Given the description of an element on the screen output the (x, y) to click on. 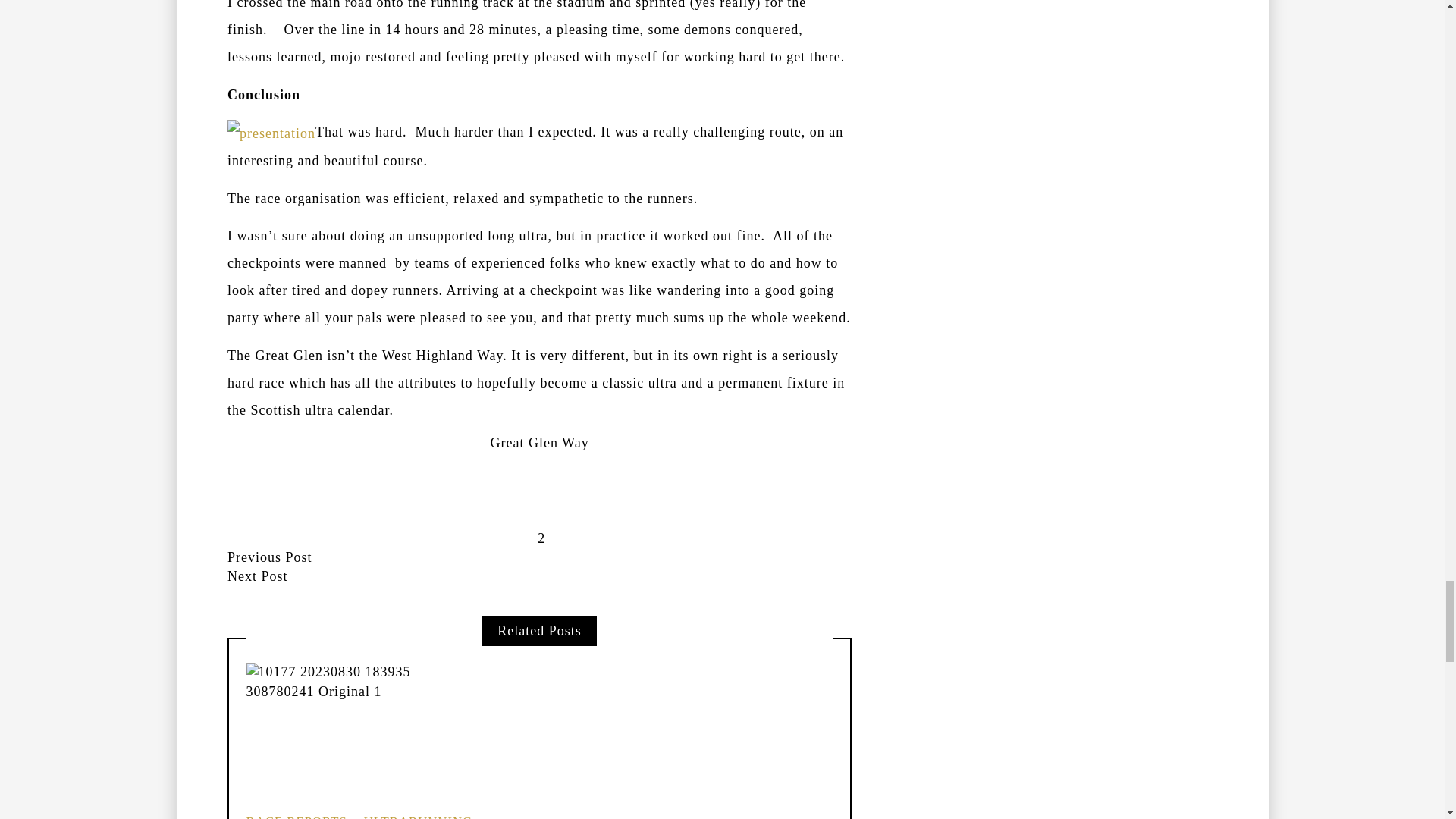
Great Glen Way (538, 442)
ULTRARUNNING (414, 816)
Previous Post (270, 557)
RACE REPORTS (296, 816)
Next Post (257, 575)
